Given the description of an element on the screen output the (x, y) to click on. 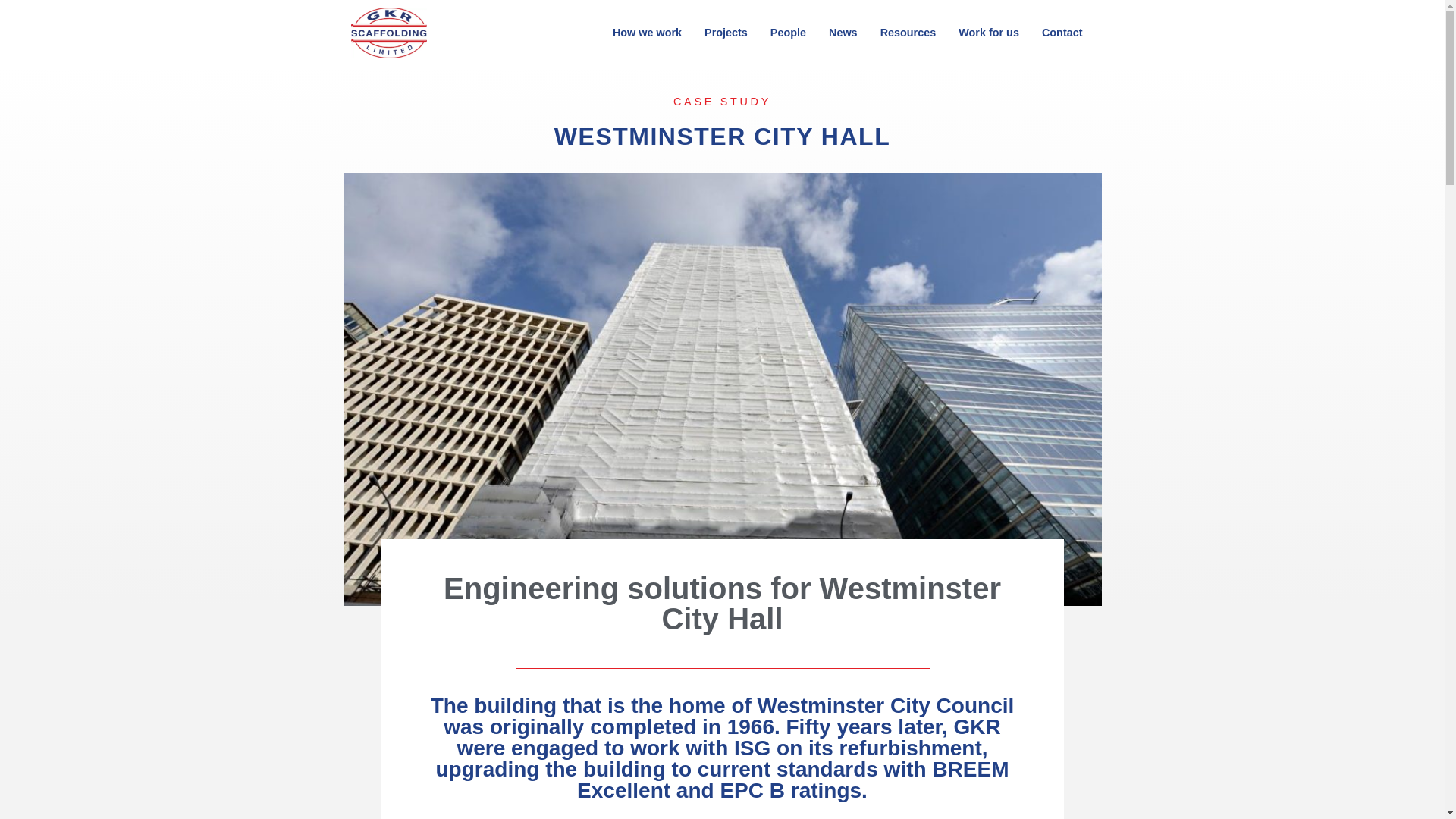
People (787, 32)
How we work (647, 32)
Projects (725, 32)
Work for us (988, 32)
Contact (1062, 32)
Resources (908, 32)
News (842, 32)
